Given the description of an element on the screen output the (x, y) to click on. 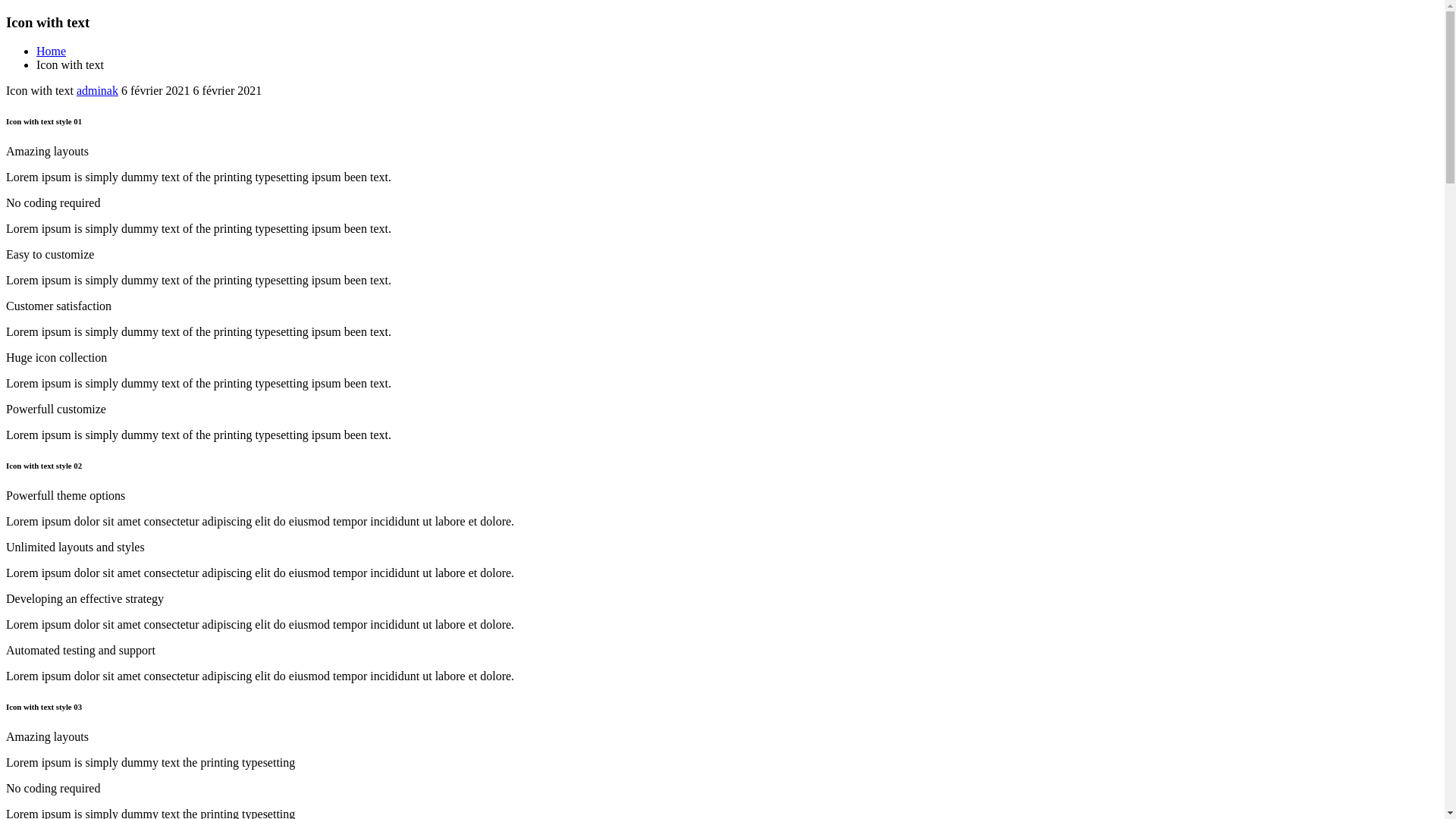
Home Element type: text (50, 50)
adminak Element type: text (97, 90)
